Given the description of an element on the screen output the (x, y) to click on. 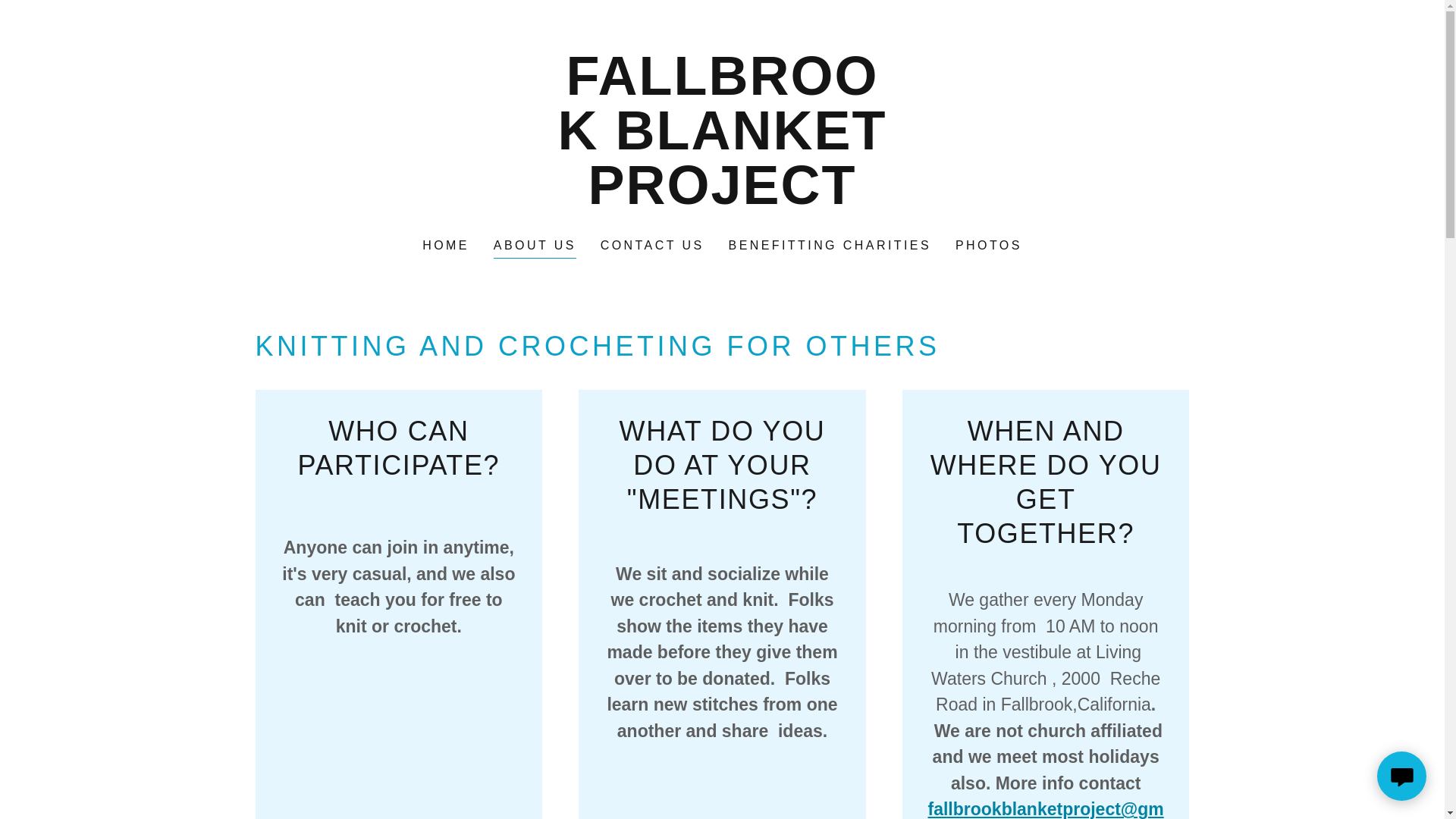
ABOUT US (534, 247)
PHOTOS (988, 245)
BENEFITTING CHARITIES (829, 245)
CONTACT US (652, 245)
FALLBROOK BLANKET PROJECT (721, 199)
Fallbrook blanket project (721, 199)
HOME (445, 245)
